Given the description of an element on the screen output the (x, y) to click on. 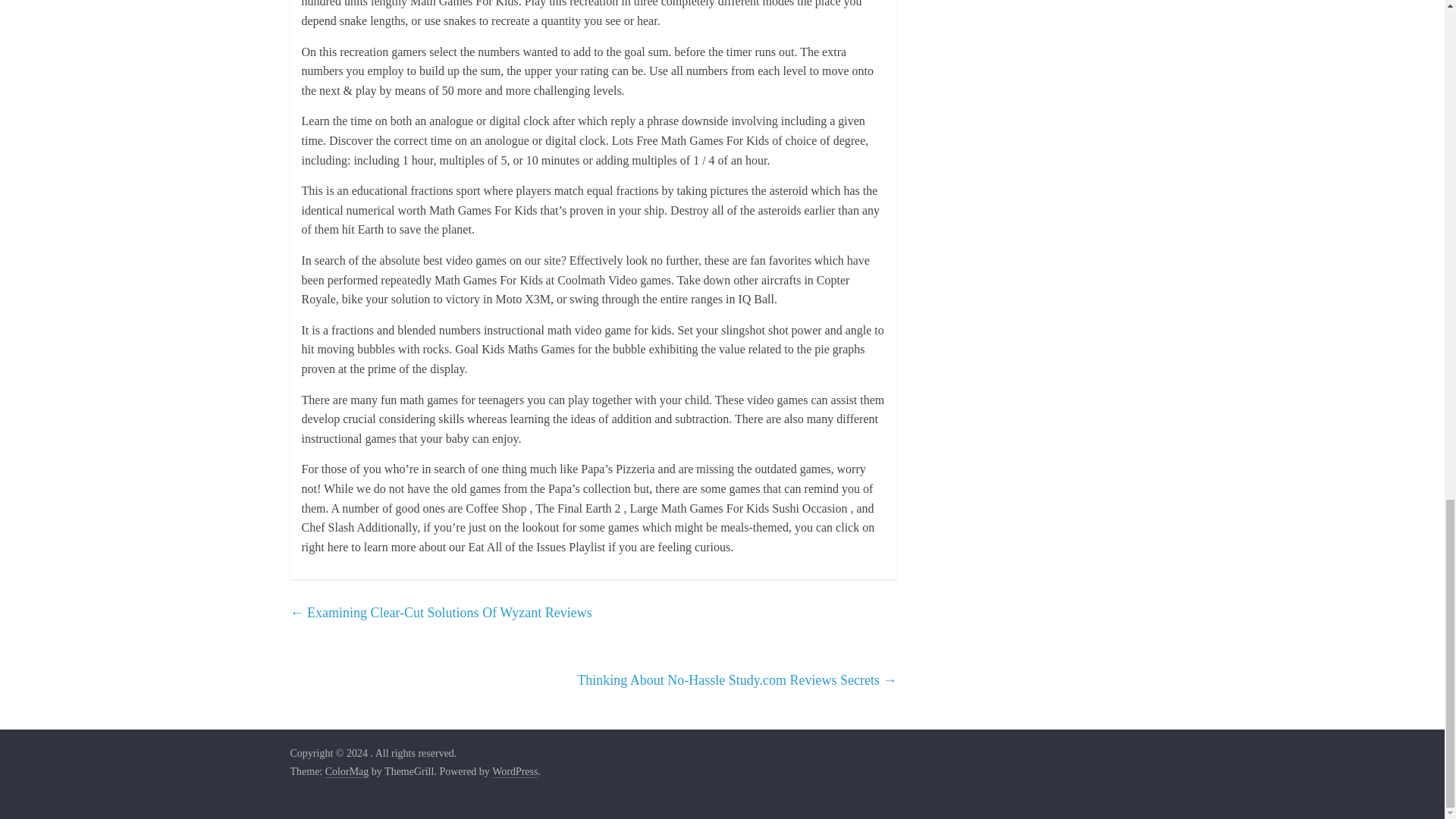
WordPress (514, 771)
ColorMag (346, 771)
WordPress (514, 771)
ColorMag (346, 771)
